Given the description of an element on the screen output the (x, y) to click on. 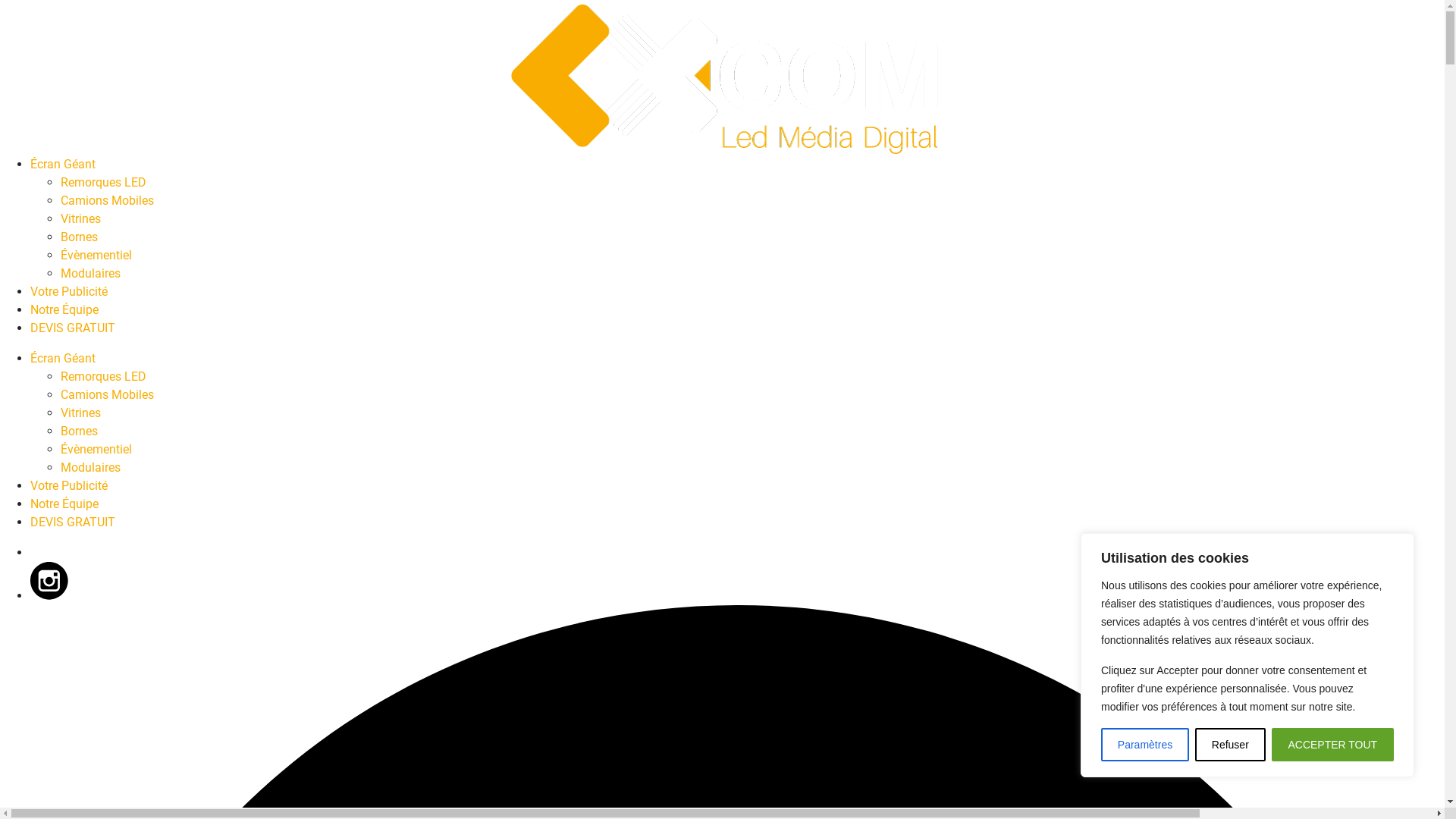
Camions Mobiles Element type: text (106, 394)
Remorques LED Element type: text (103, 182)
Modulaires Element type: text (90, 273)
Bornes Element type: text (78, 236)
ACCEPTER TOUT Element type: text (1332, 744)
Modulaires Element type: text (90, 467)
Remorques LED Element type: text (103, 376)
DEVIS GRATUIT Element type: text (72, 521)
Vitrines Element type: text (80, 218)
Bornes Element type: text (78, 430)
Camions Mobiles Element type: text (106, 200)
Vitrines Element type: text (80, 412)
DEVIS GRATUIT Element type: text (72, 327)
Refuser Element type: text (1230, 744)
